Given the description of an element on the screen output the (x, y) to click on. 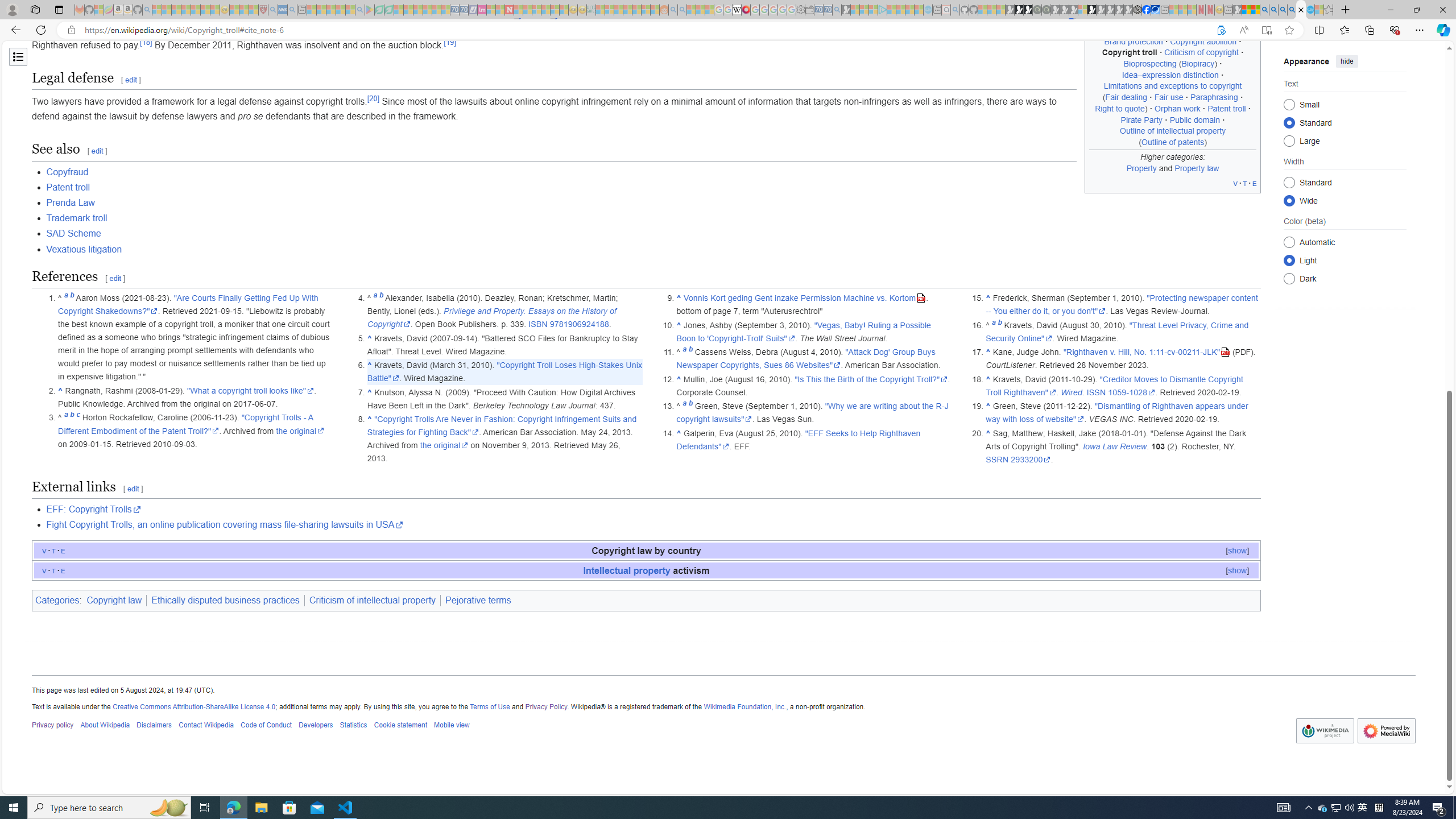
Services - Maintenance | Sky Blue Bikes - Sky Blue Bikes (1309, 9)
Wikimedia Foundation, Inc. (744, 706)
Disclaimers (153, 725)
About Wikipedia (104, 725)
Limitations and exceptions to copyright (1172, 85)
Nordace | Facebook (1146, 9)
Standard (1289, 182)
Bing AI - Search (1264, 9)
SSRN (997, 459)
